Given the description of an element on the screen output the (x, y) to click on. 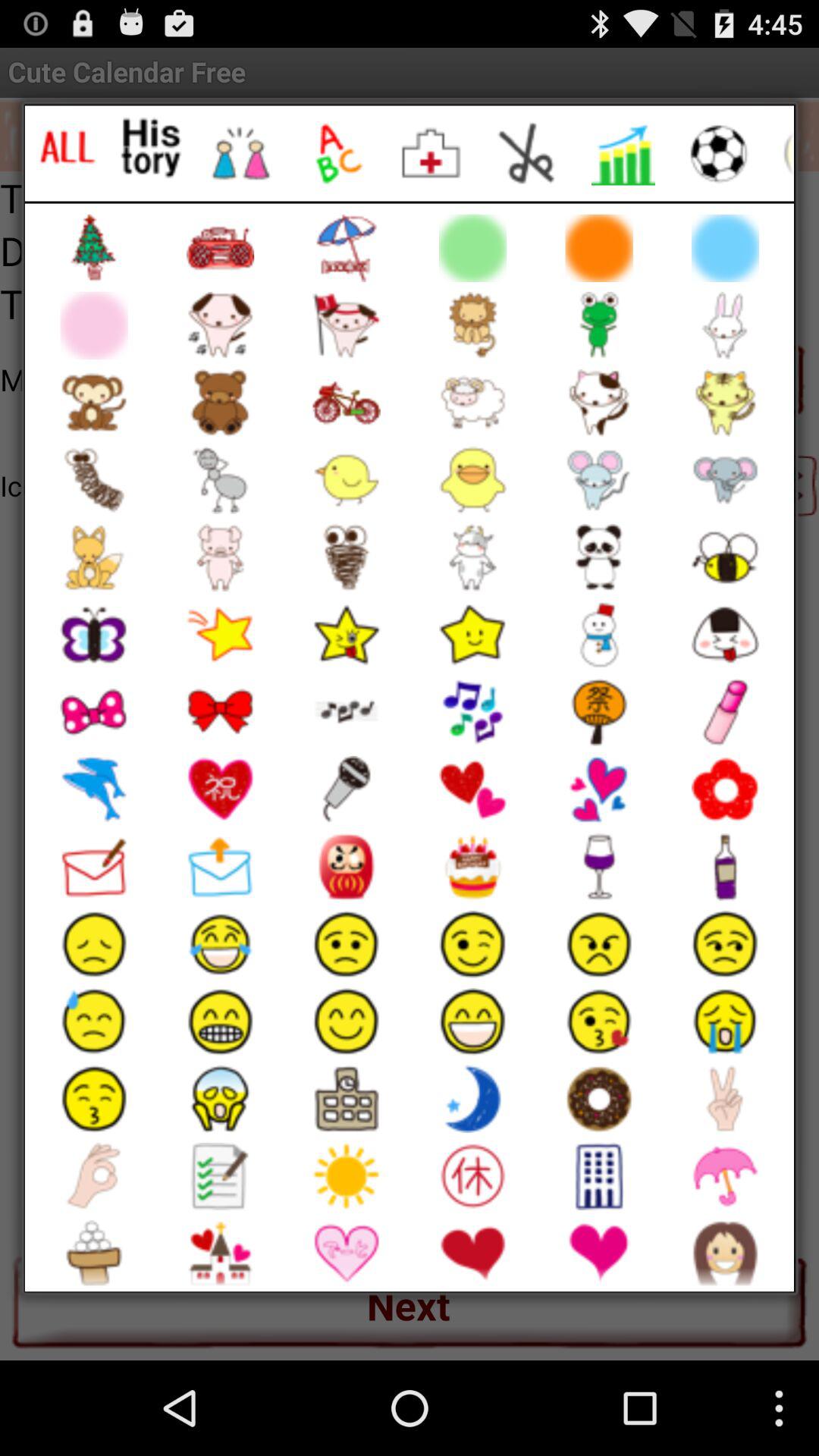
look at your history (151, 147)
